Given the description of an element on the screen output the (x, y) to click on. 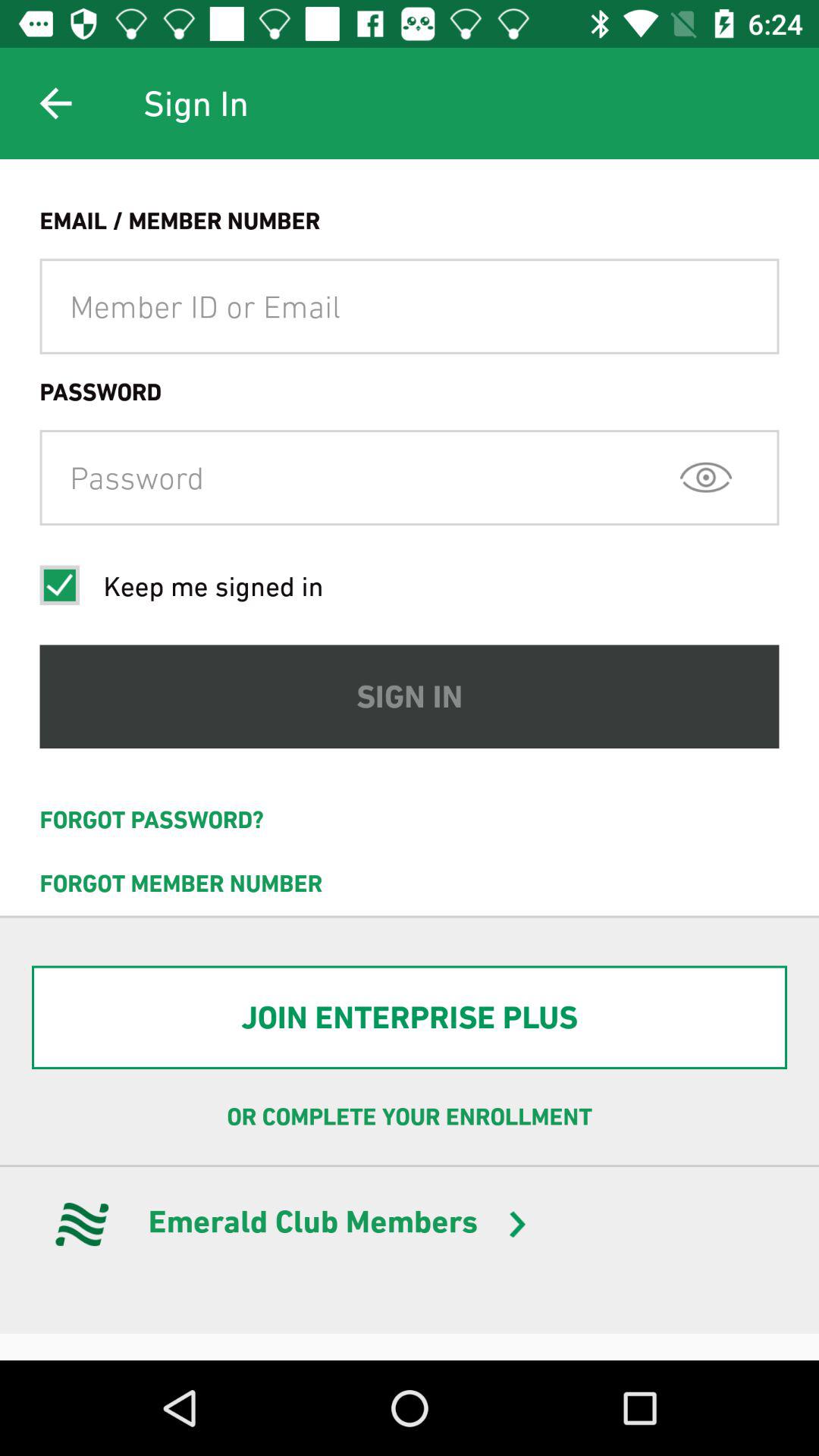
select the item below the join enterprise plus item (409, 1116)
